Given the description of an element on the screen output the (x, y) to click on. 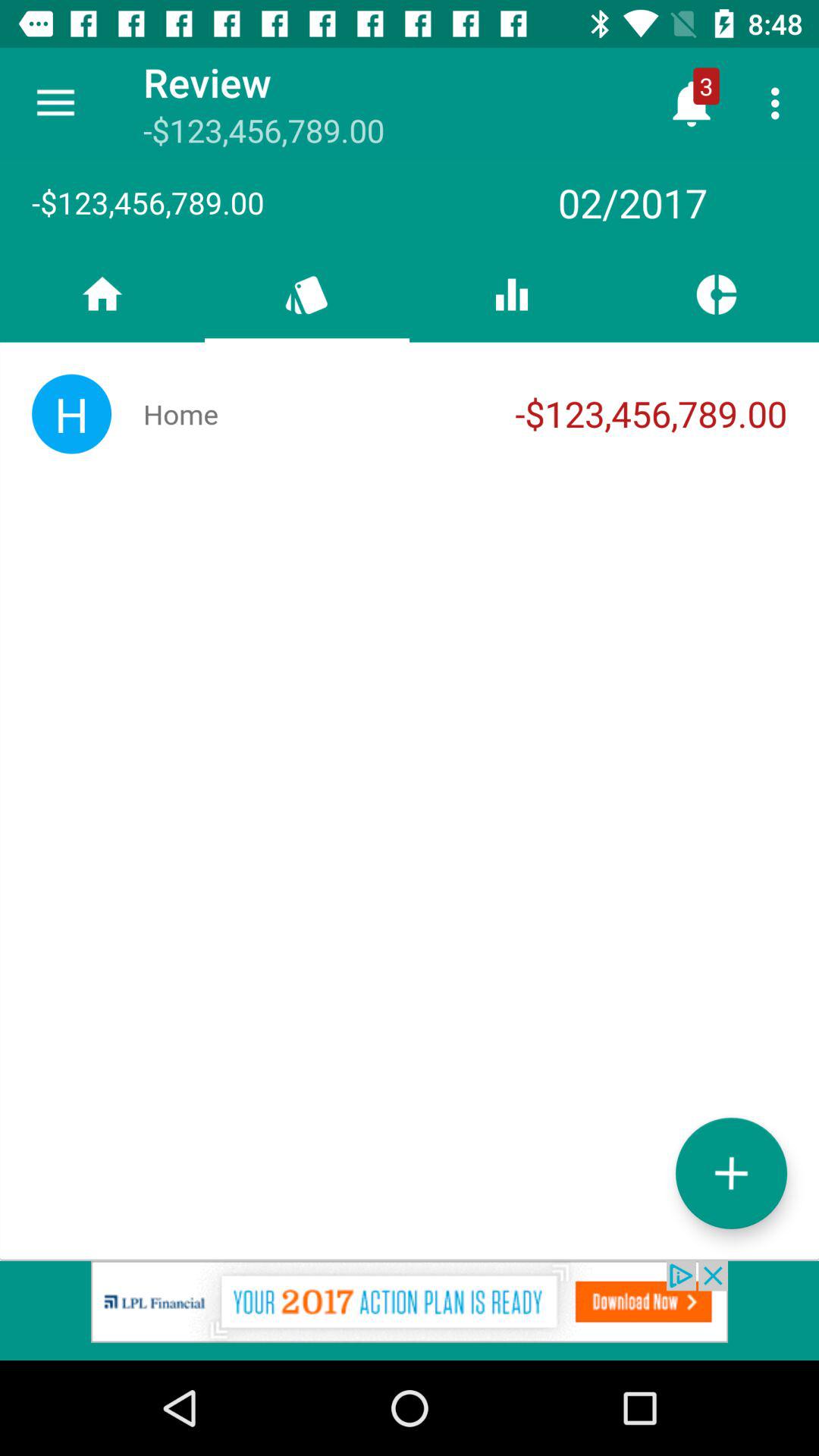
add more (731, 1173)
